Given the description of an element on the screen output the (x, y) to click on. 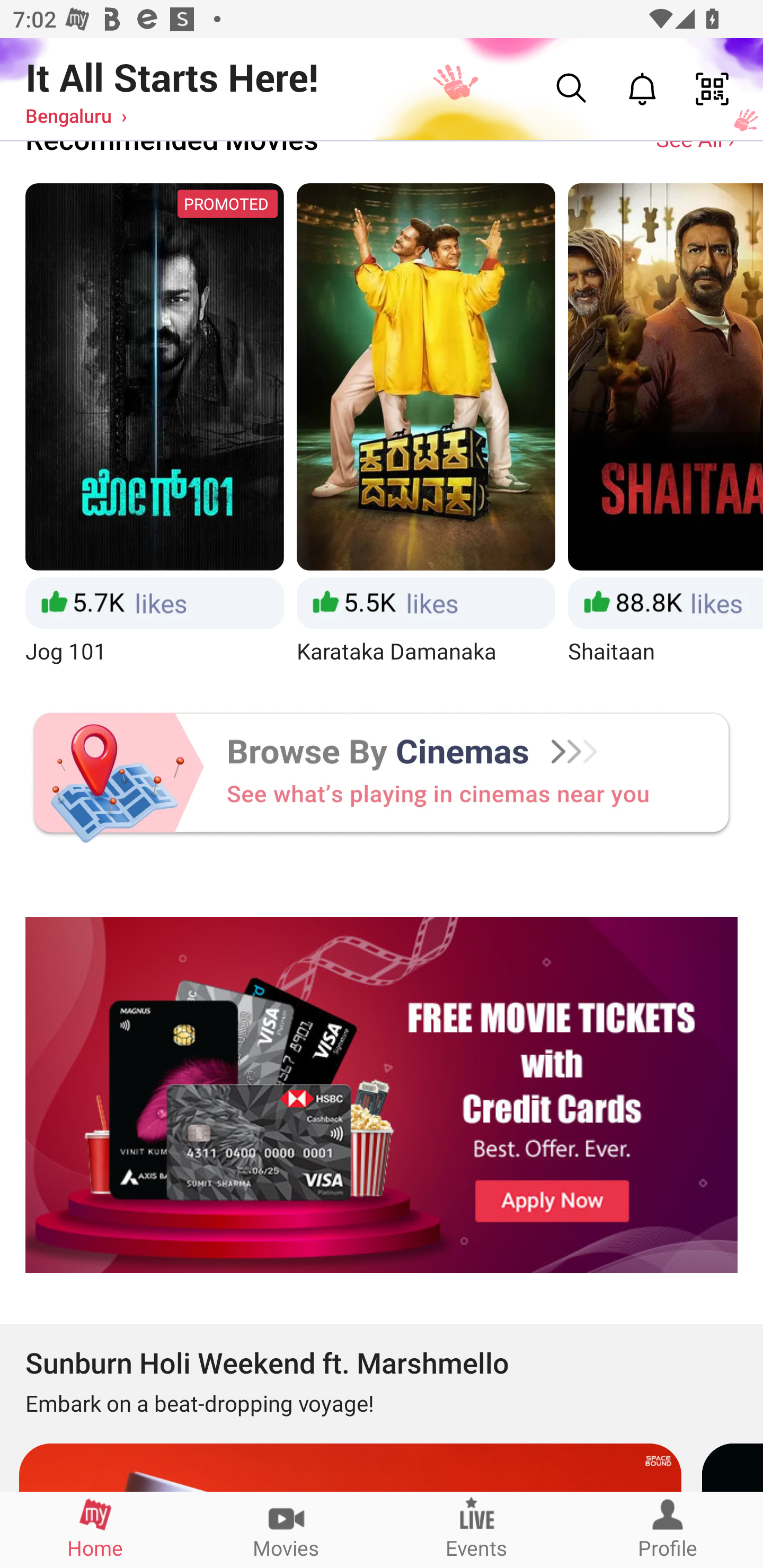
Bengaluru  › (76, 114)
Jog 101 PROMOTED (154, 426)
Karataka Damanaka (425, 426)
Shaitaan (665, 426)
Home (95, 1529)
Movies (285, 1529)
Events (476, 1529)
Profile (667, 1529)
